Given the description of an element on the screen output the (x, y) to click on. 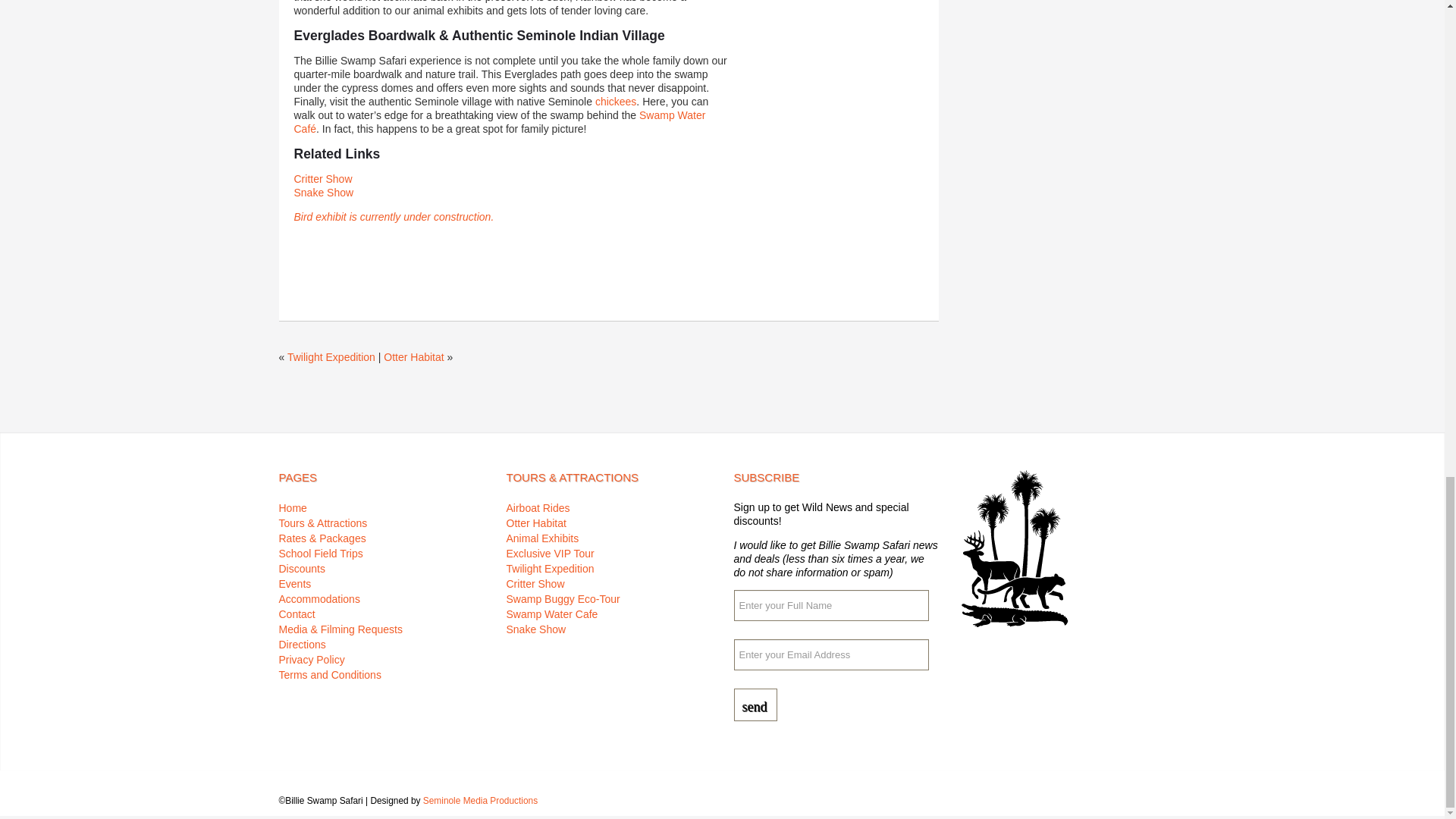
Home (293, 508)
Events (295, 583)
send (755, 704)
Otter Habitat (414, 357)
chickees (615, 101)
Contact (297, 613)
School Field Trips (320, 553)
Snake Show (323, 192)
Twilight Expedition (330, 357)
Discounts (301, 568)
Accommodations (319, 598)
Critter Show (323, 178)
